Given the description of an element on the screen output the (x, y) to click on. 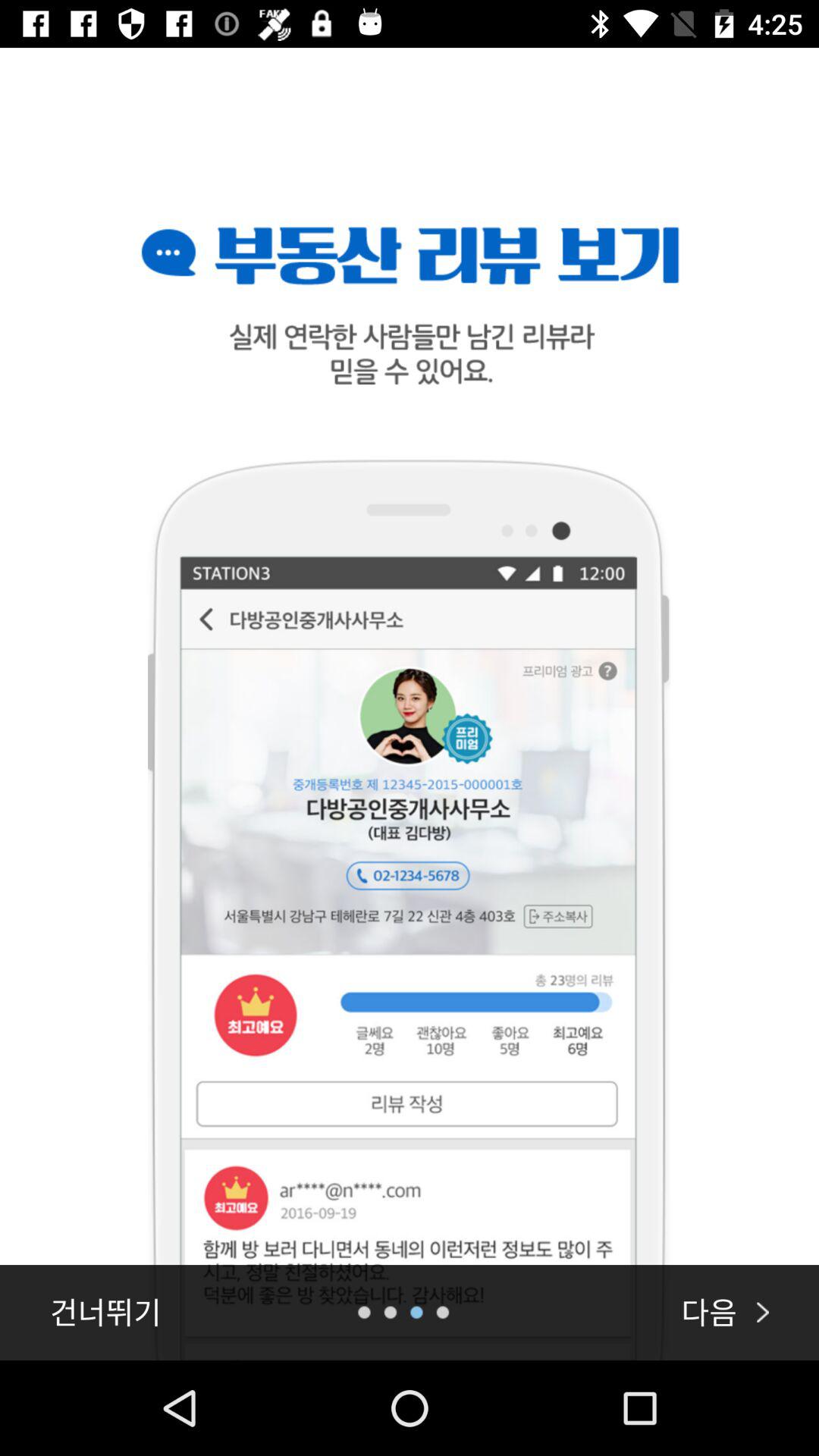
select the text which is at the bottom right corner (725, 1312)
